Given the description of an element on the screen output the (x, y) to click on. 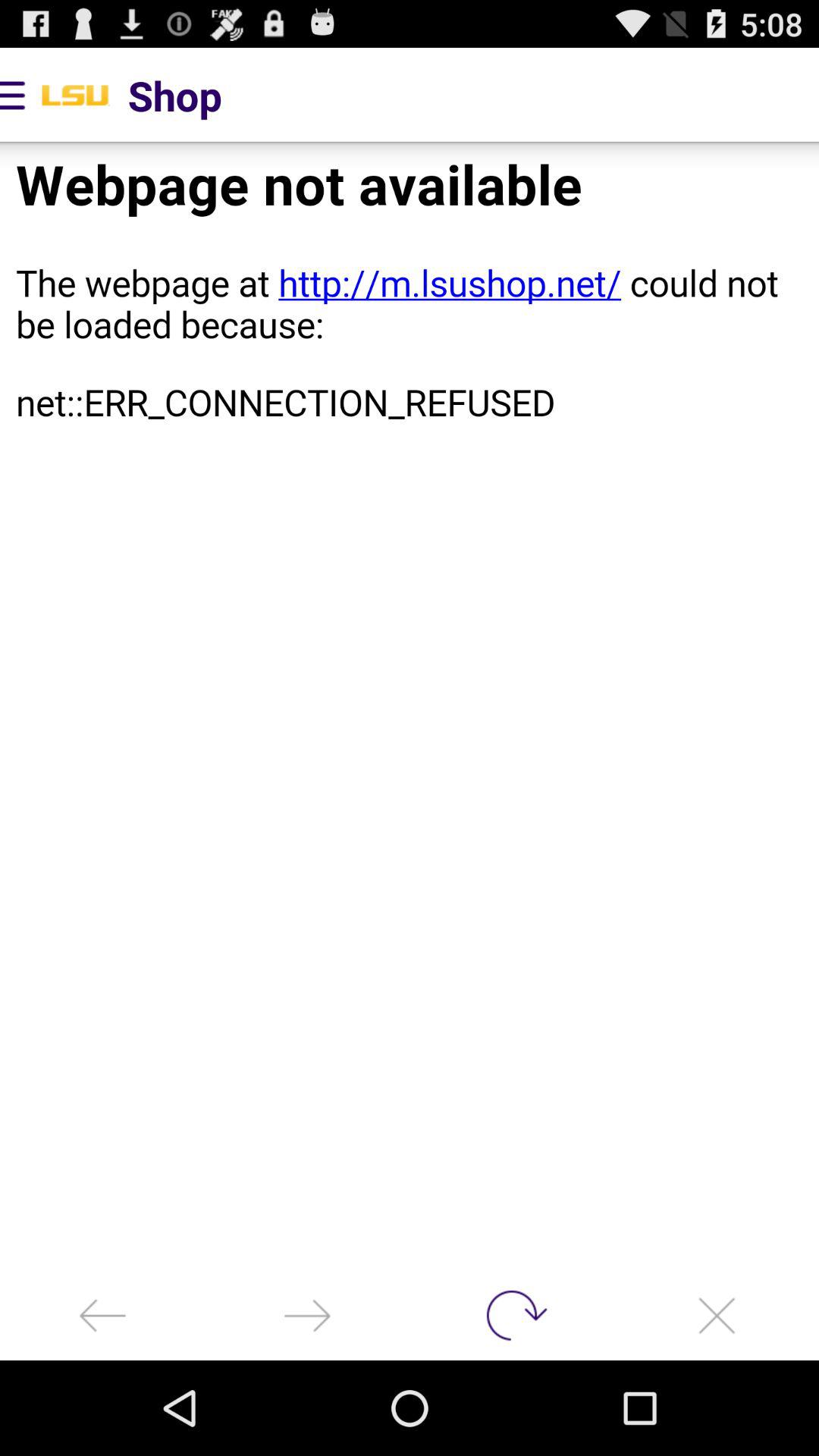
go back (102, 1315)
